Given the description of an element on the screen output the (x, y) to click on. 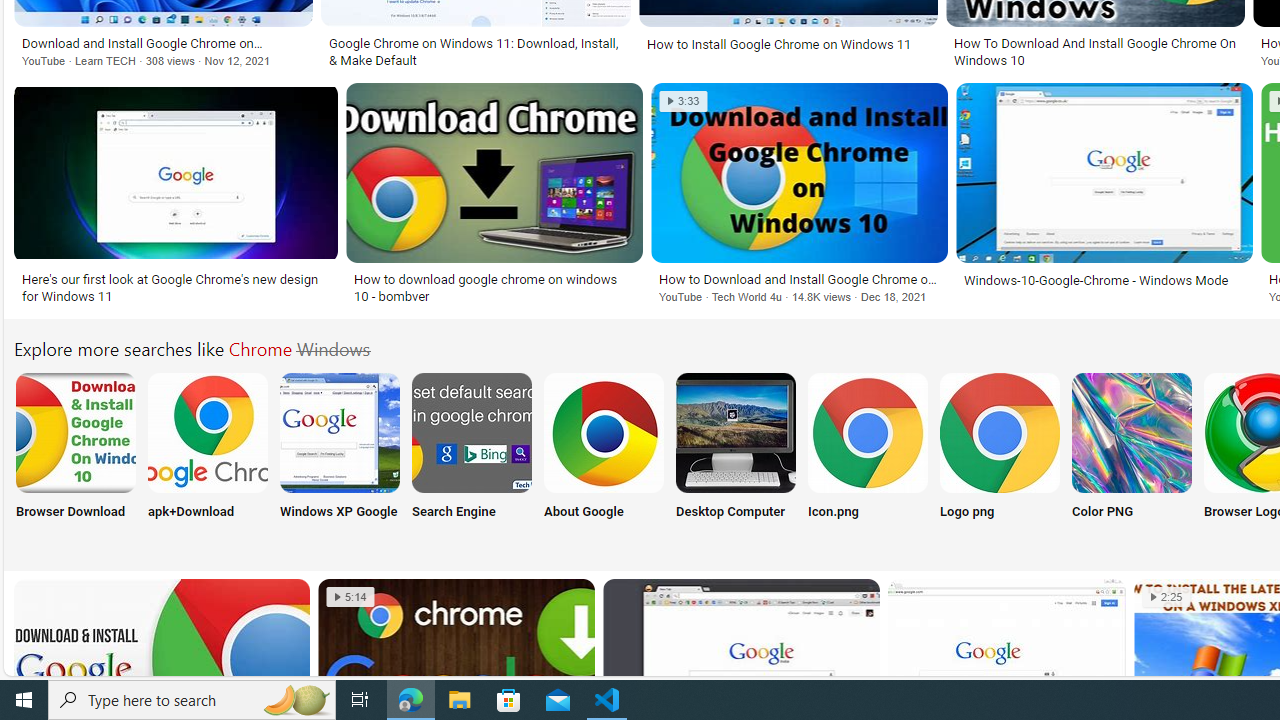
Logo png (999, 457)
About Google Chrome About Google (604, 458)
Chrome Color PNG (1131, 432)
Chrome apk+Download (207, 432)
3:33 (683, 101)
apk+Download (207, 457)
Color PNG (1131, 457)
Search Engine (472, 457)
About Google Chrome (604, 432)
Chrome Browser Download (75, 432)
How To Download And Install Google Chrome On Windows 10 (1094, 52)
How to download google chrome on windows 10 - bombver (494, 287)
